Given the description of an element on the screen output the (x, y) to click on. 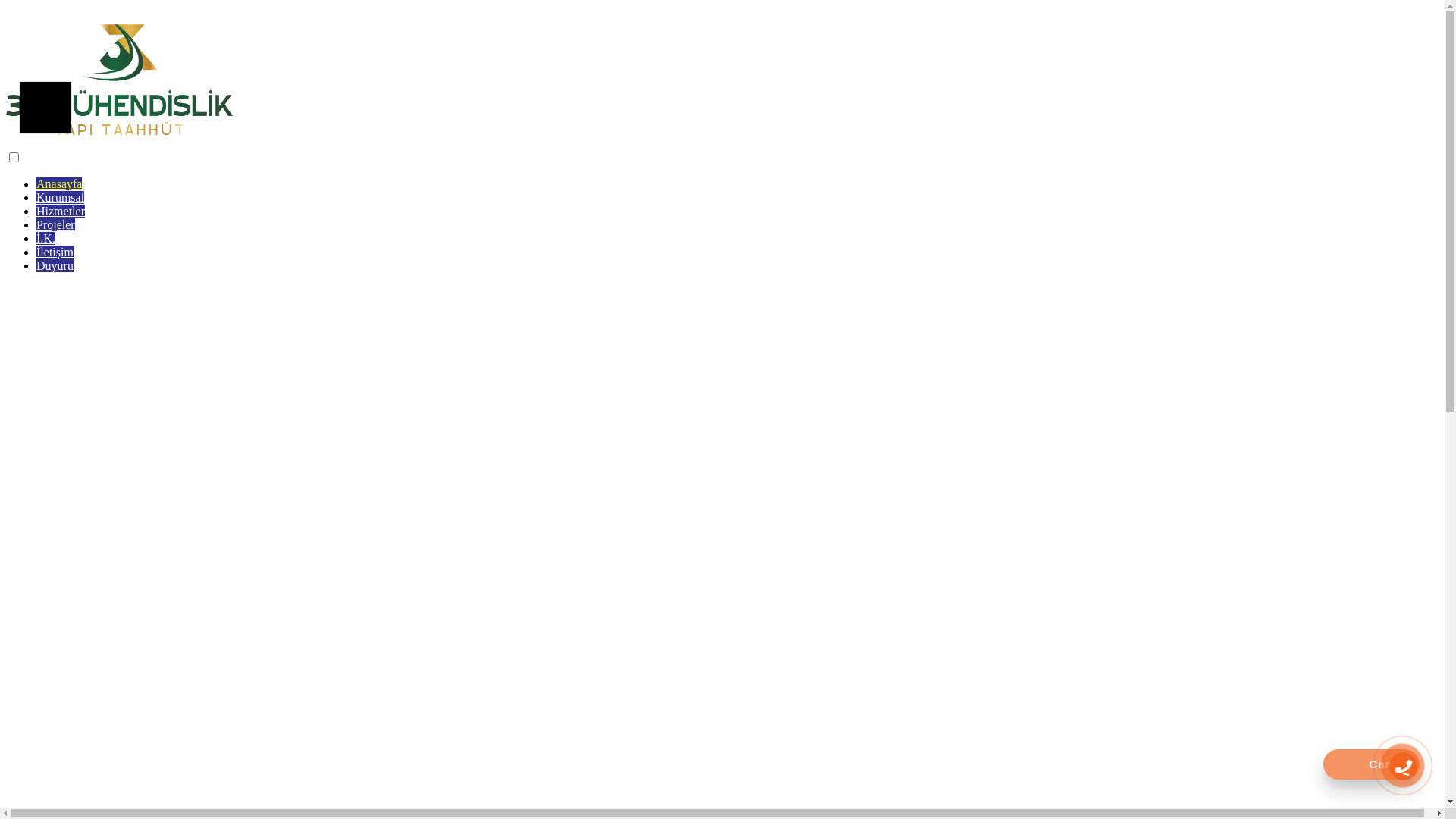
Hizmetler Element type: text (60, 210)
Kurumsal Element type: text (60, 197)
Projeler Element type: text (55, 224)
Anasayfa Element type: text (58, 183)
Duyuru Element type: text (54, 265)
